Given the description of an element on the screen output the (x, y) to click on. 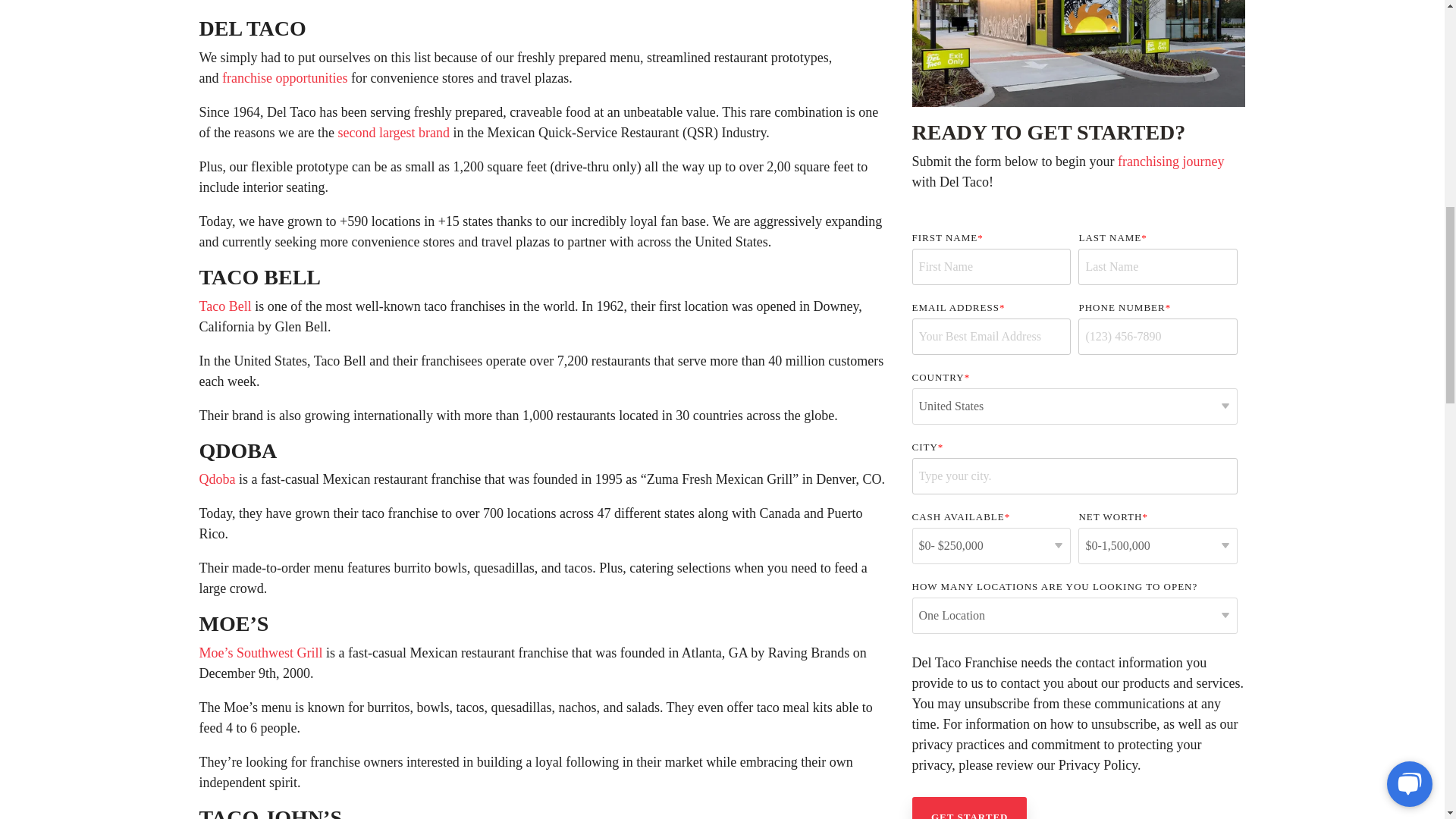
Get Started (968, 807)
